Given the description of an element on the screen output the (x, y) to click on. 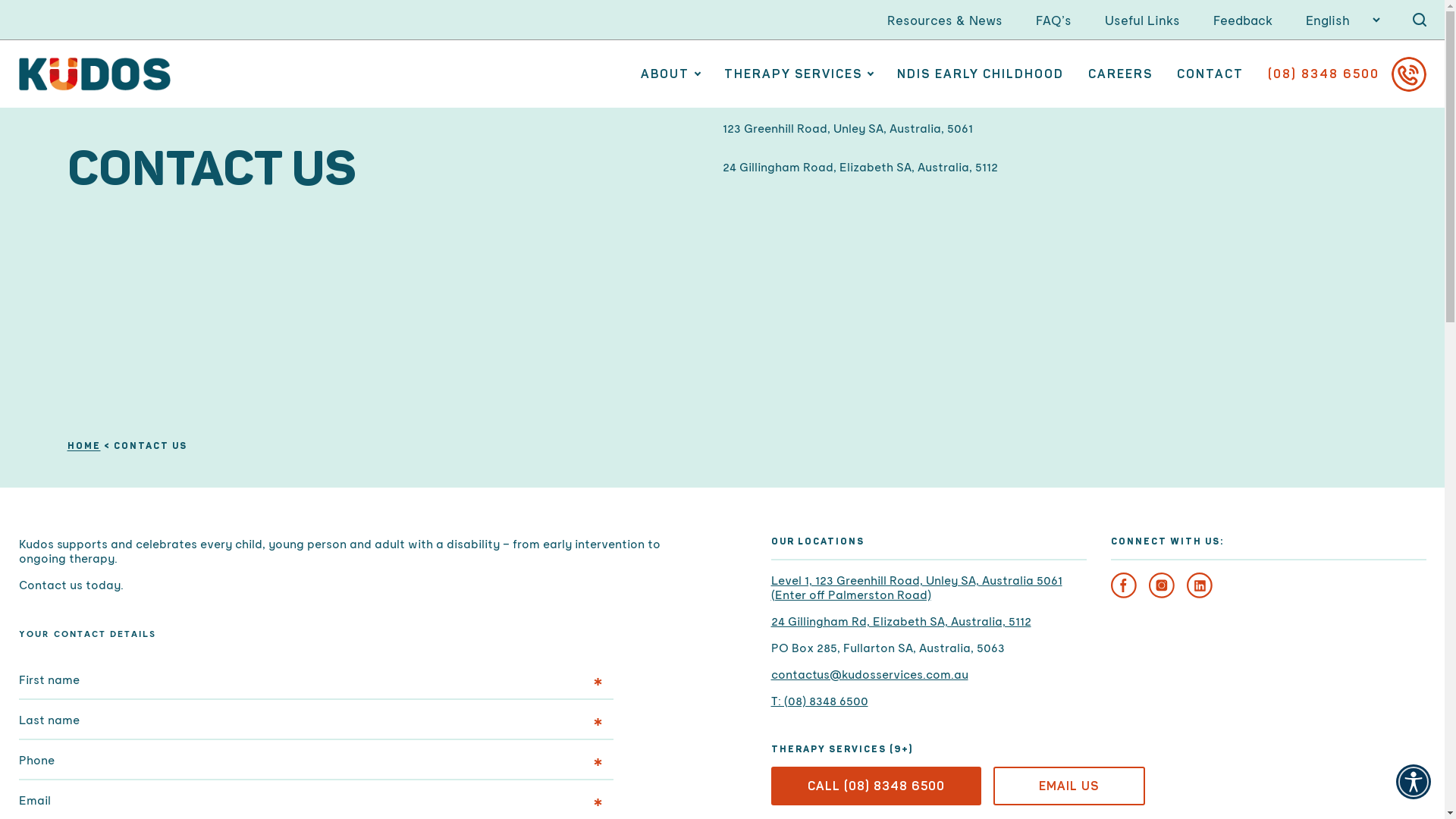
EMAIL US Element type: text (1069, 785)
contactus@kudosservices.com.au Element type: text (927, 673)
ABOUT Element type: text (669, 73)
CALL (08) 8348 6500 Element type: text (875, 785)
Feedback Element type: text (1242, 19)
THERAPY SERVICES Element type: text (797, 73)
CAREERS Element type: text (1119, 73)
T: (08) 8348 6500 Element type: text (927, 700)
NDIS EARLY CHILDHOOD Element type: text (979, 73)
Resources & News Element type: text (944, 19)
24 Gillingham Rd, Elizabeth SA, Australia, 5112 Element type: text (927, 620)
HOME Element type: text (83, 445)
CONTACT Element type: text (1209, 73)
Home Element type: hover (93, 73)
Useful Links Element type: text (1141, 19)
(08) 8348 6500 Element type: text (1346, 73)
